Given the description of an element on the screen output the (x, y) to click on. 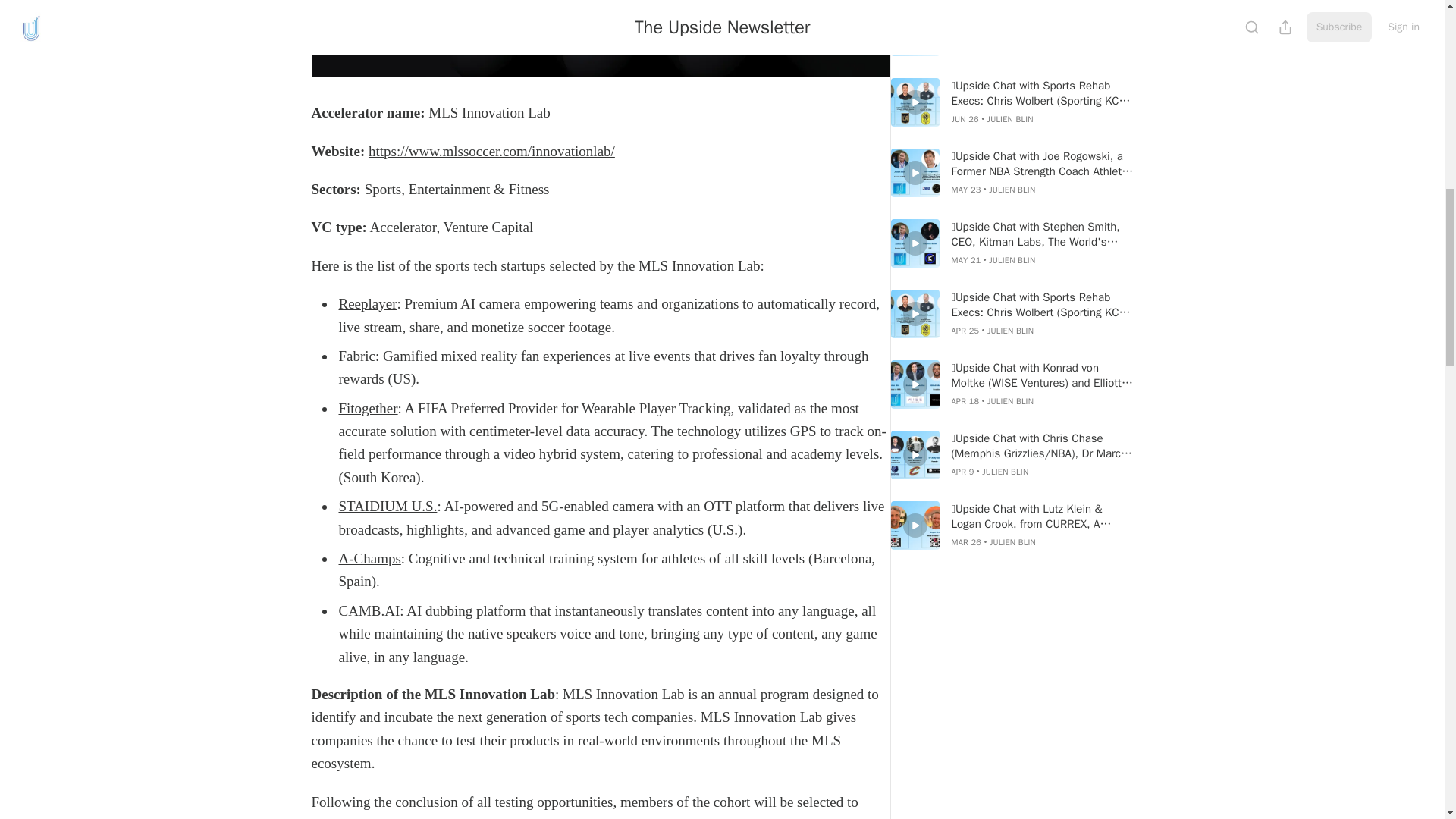
Fabric (356, 355)
CAMB.AI (367, 610)
A-Champs (368, 558)
Fitogether (367, 408)
Reeplayer (366, 303)
STAIDIUM U.S. (386, 505)
